Given the description of an element on the screen output the (x, y) to click on. 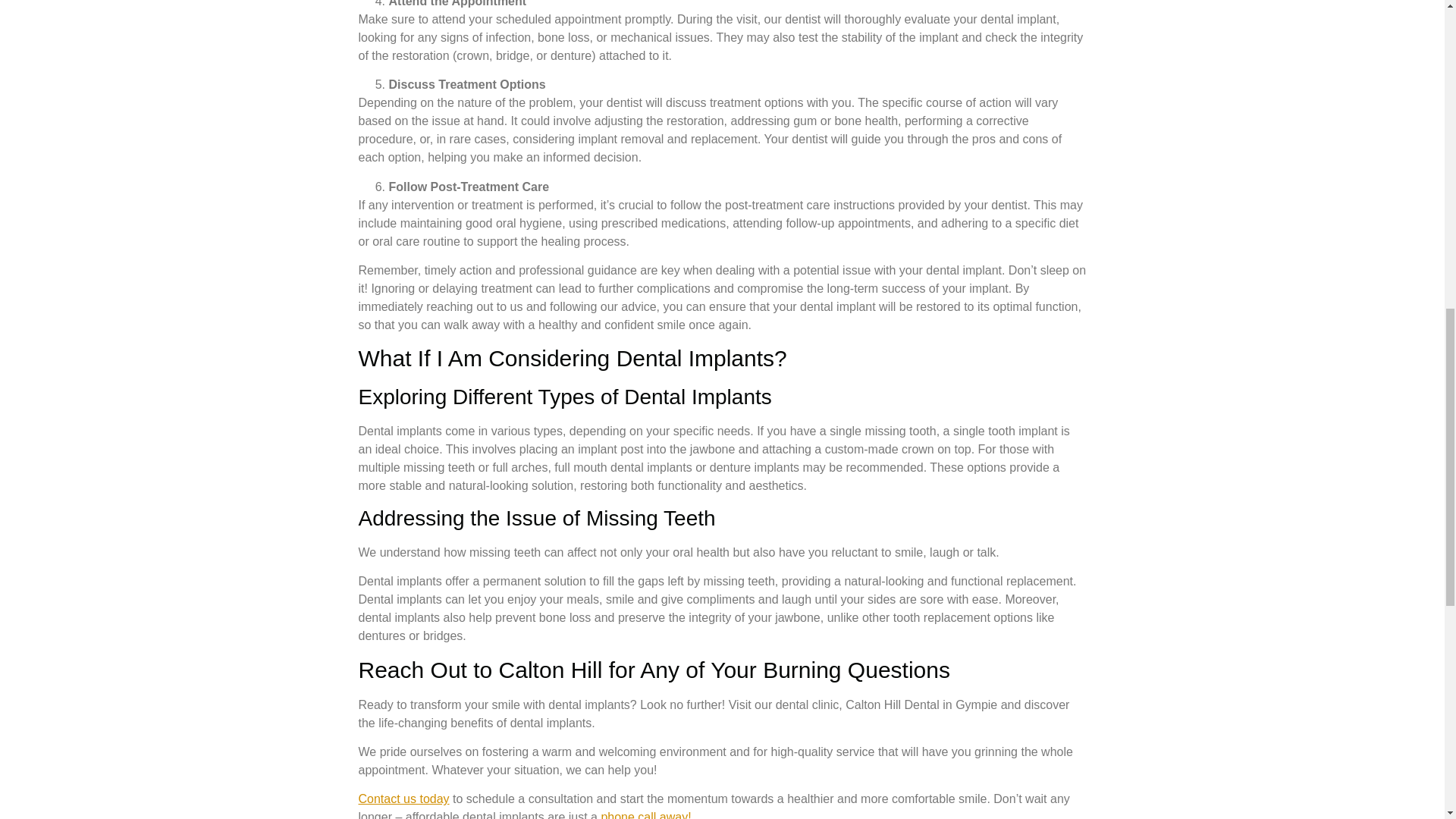
phone call away! (644, 814)
Contact us today (403, 798)
